Given the description of an element on the screen output the (x, y) to click on. 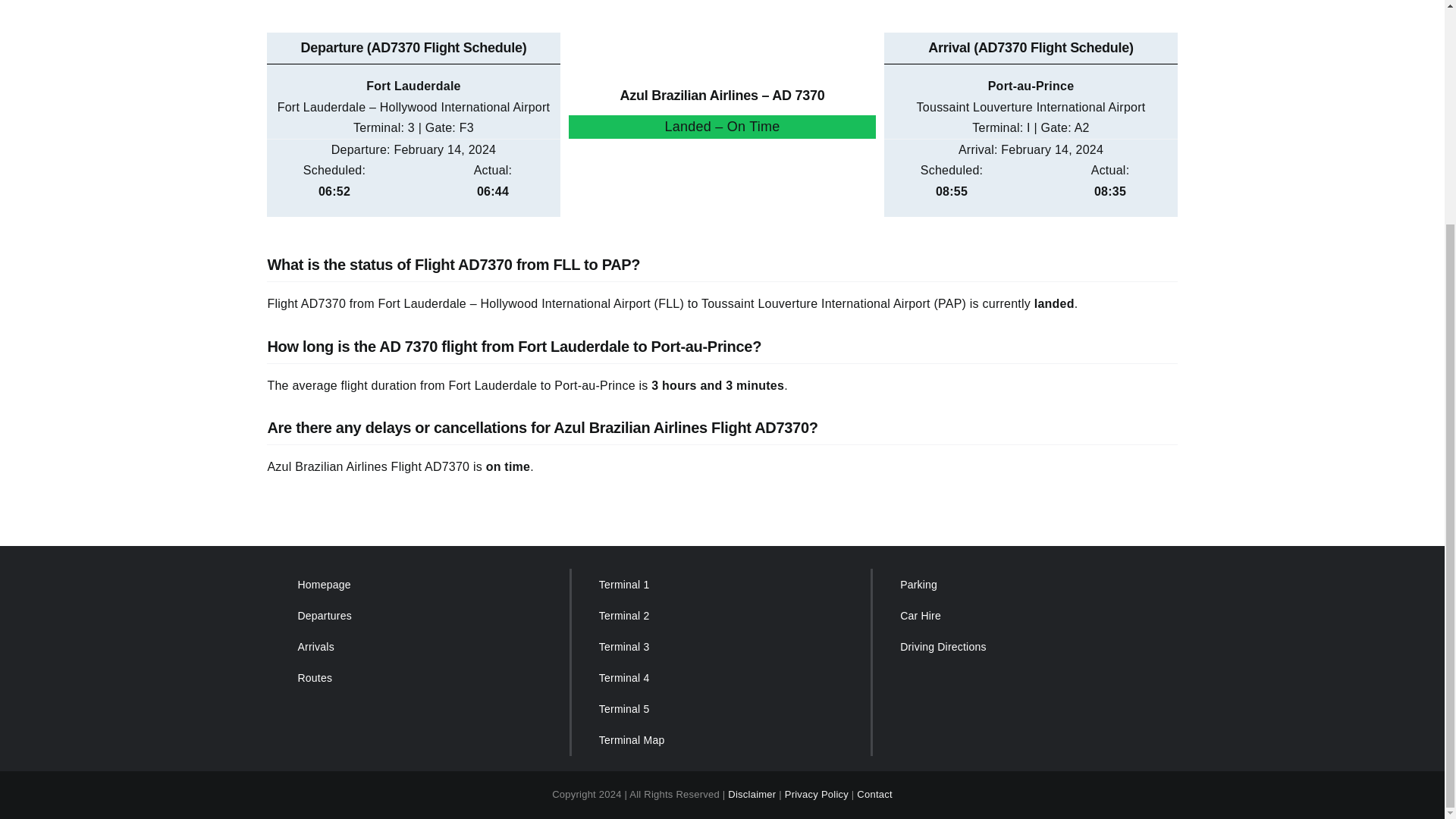
Terminal 4 (720, 677)
Car Hire (1022, 615)
Terminal 3 (720, 646)
Homepage (419, 584)
Driving Directions (1022, 646)
Arrivals (419, 646)
Terminal 1 (720, 584)
Terminal 5 (720, 708)
Routes (419, 677)
Terminal Map (720, 739)
